Given the description of an element on the screen output the (x, y) to click on. 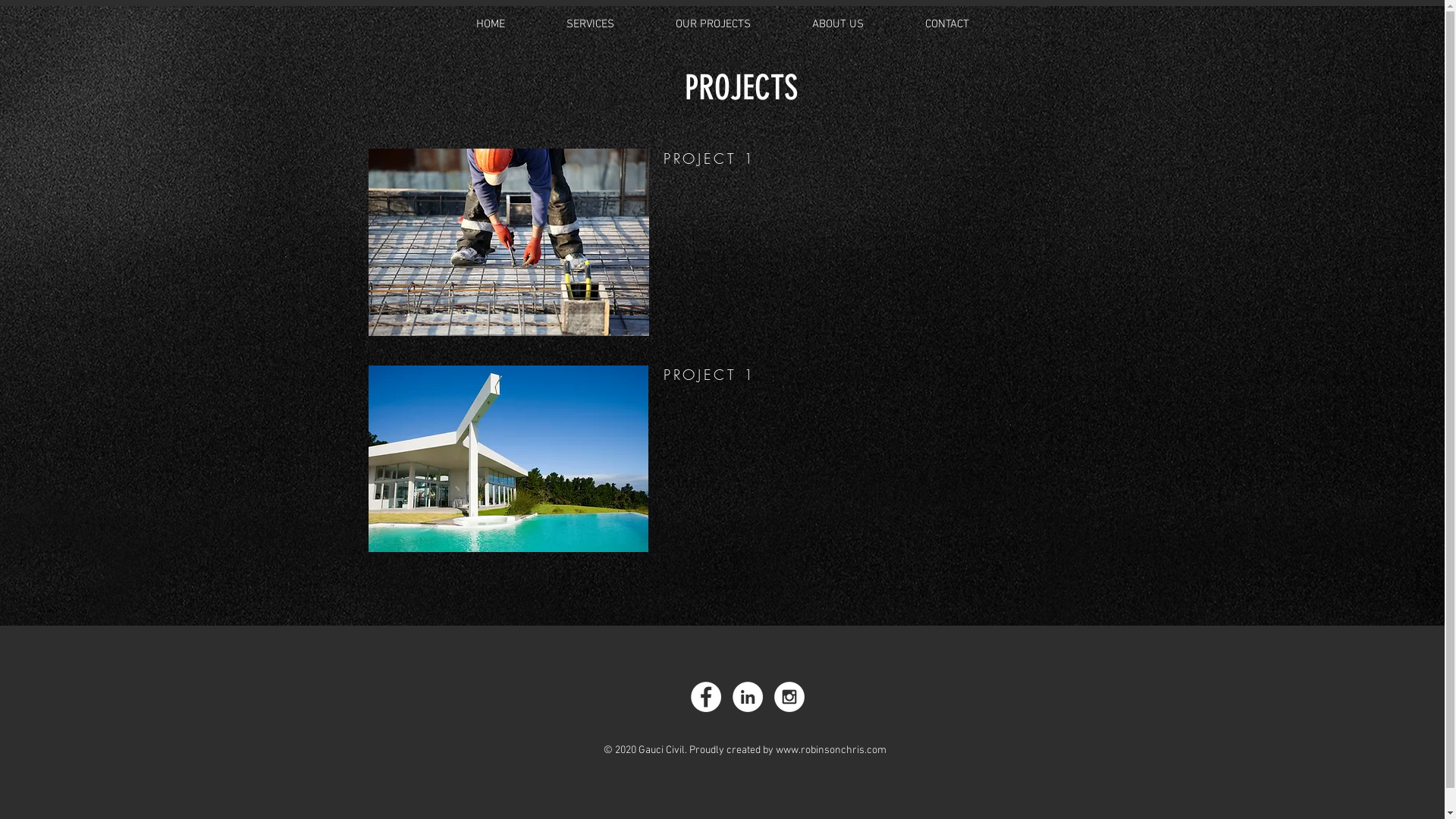
www.robinsonchris.com Element type: text (830, 749)
ABOUT US Element type: text (837, 24)
CONTACT Element type: text (946, 24)
SERVICES Element type: text (589, 24)
PROJECTS Element type: text (740, 87)
OUR PROJECTS Element type: text (712, 24)
HOME Element type: text (490, 24)
